Given the description of an element on the screen output the (x, y) to click on. 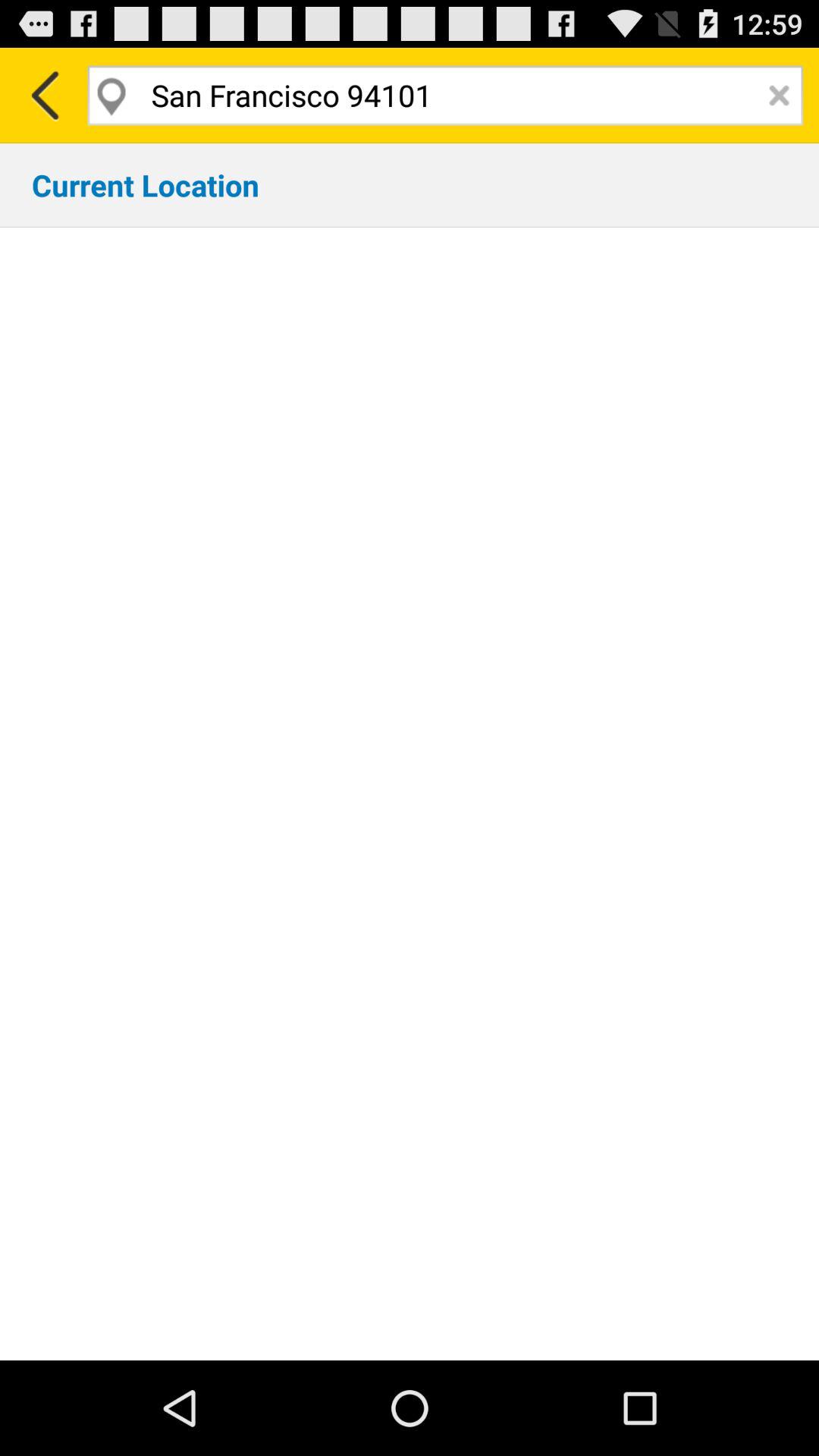
go back (43, 95)
